Given the description of an element on the screen output the (x, y) to click on. 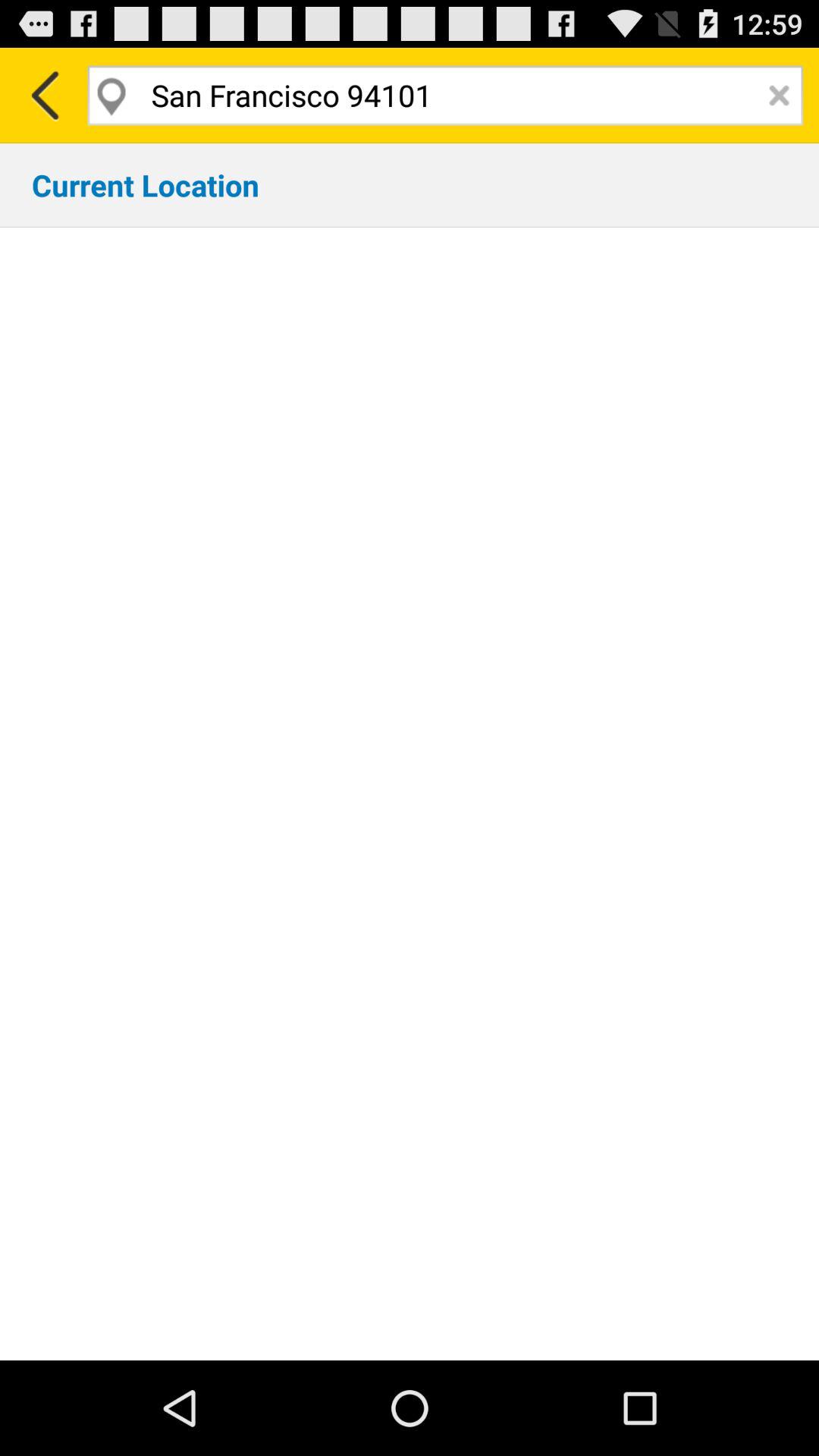
go back (43, 95)
